Given the description of an element on the screen output the (x, y) to click on. 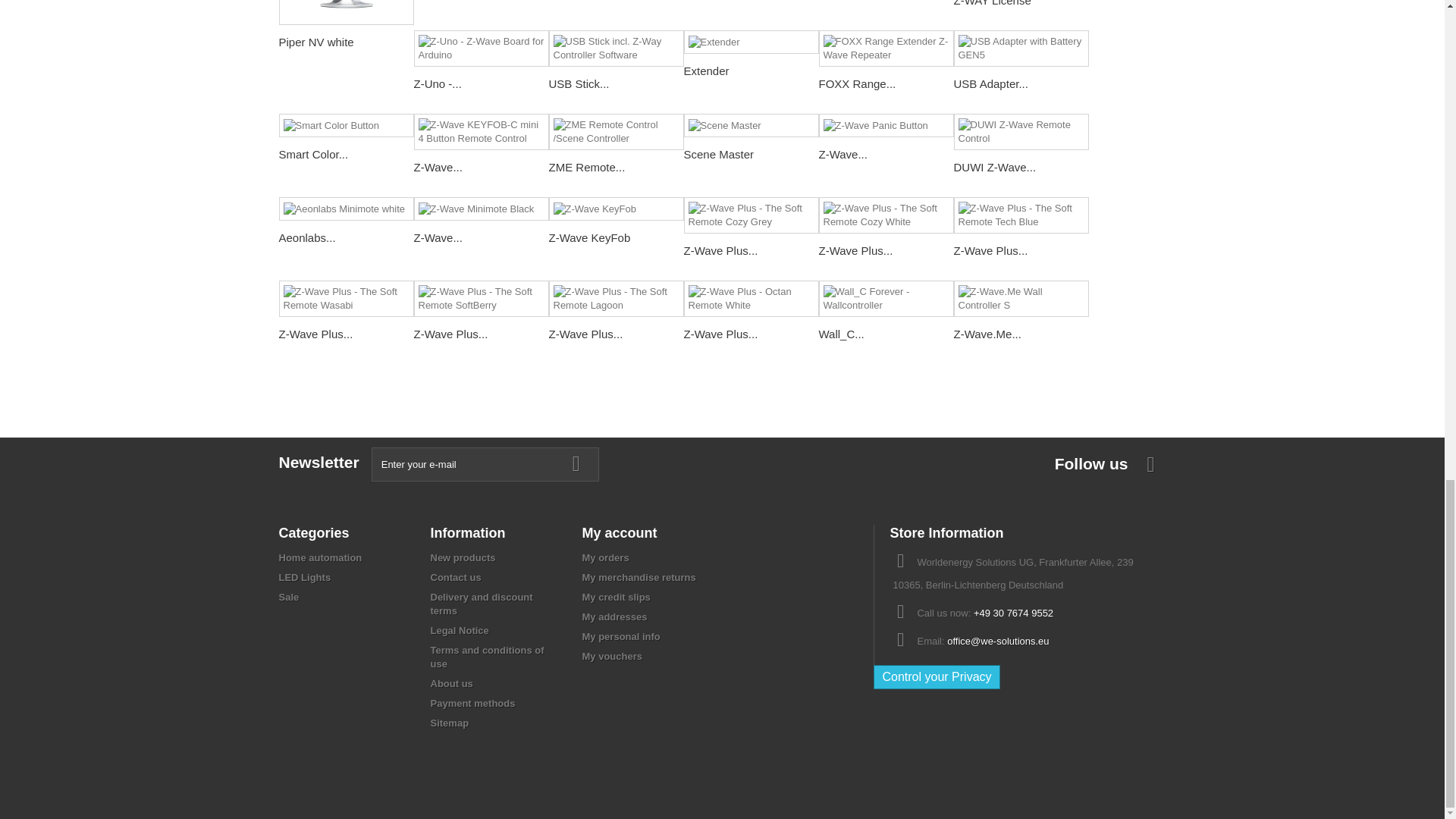
Enter your e-mail (484, 464)
